Given the description of an element on the screen output the (x, y) to click on. 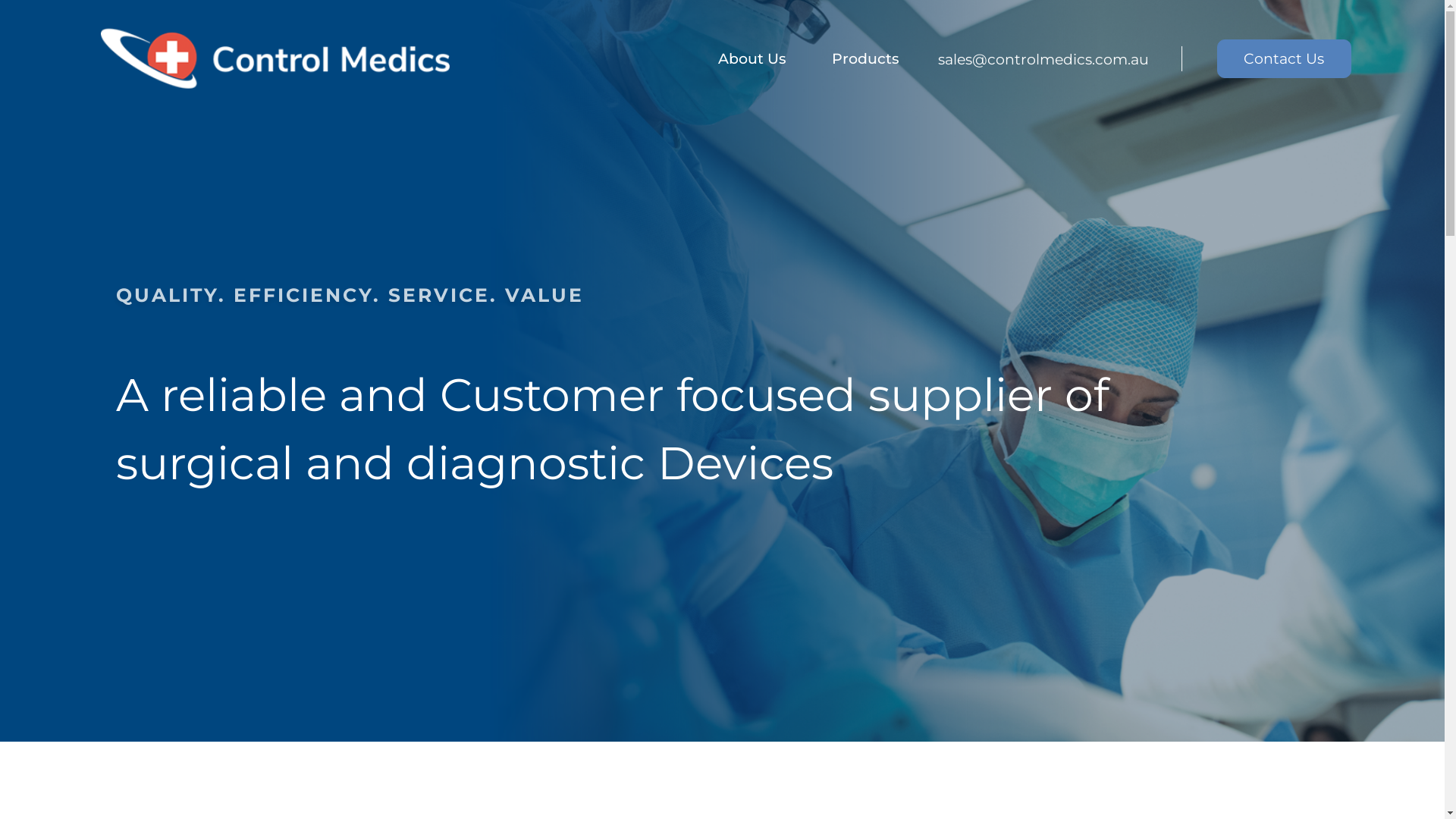
Products Element type: text (865, 59)
Contact Us Element type: text (1284, 58)
About Us Element type: text (752, 59)
sales@controlmedics.com.au Element type: text (1077, 59)
